Given the description of an element on the screen output the (x, y) to click on. 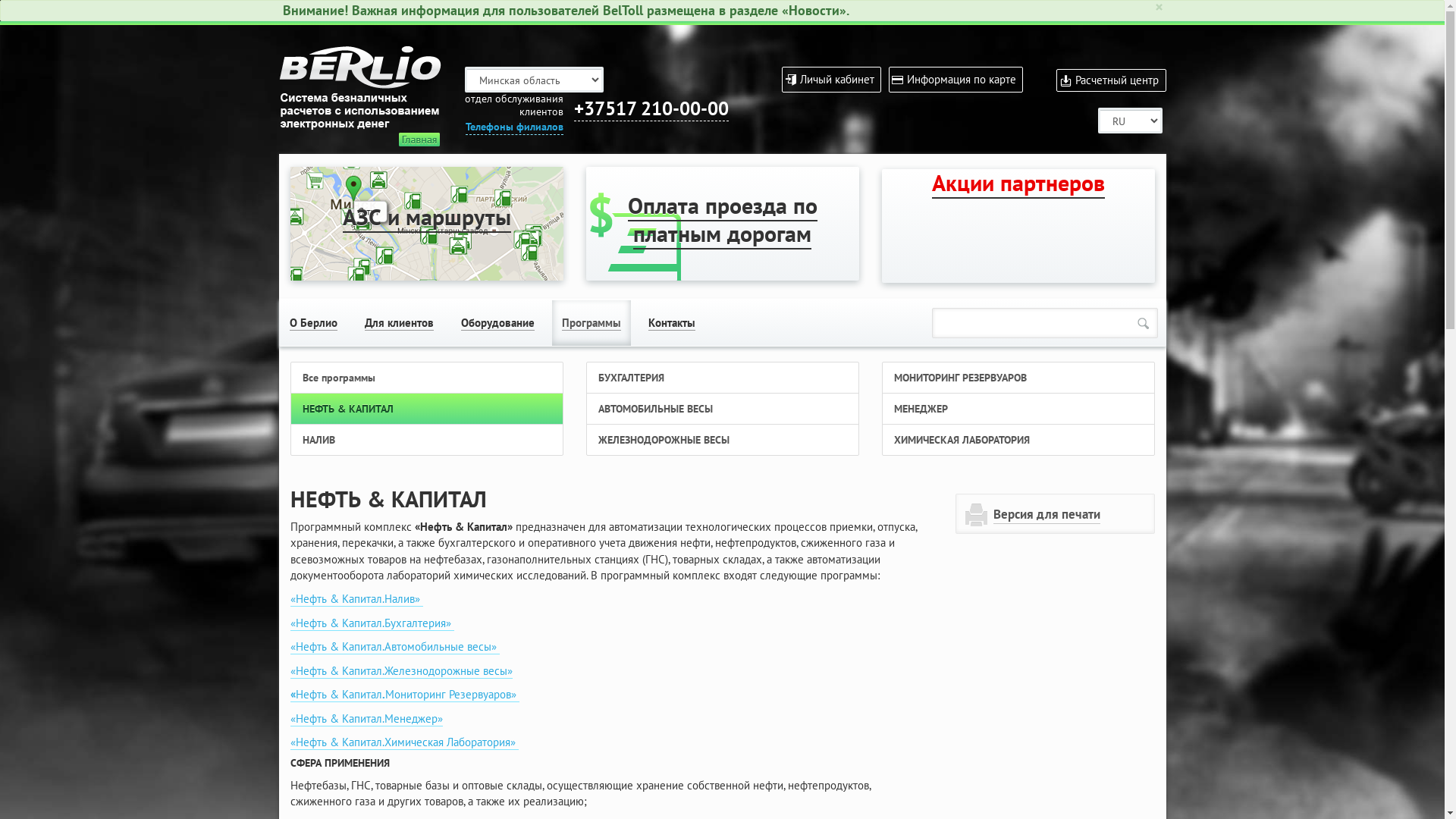
+37517 210-00-00 Element type: text (650, 108)
